Given the description of an element on the screen output the (x, y) to click on. 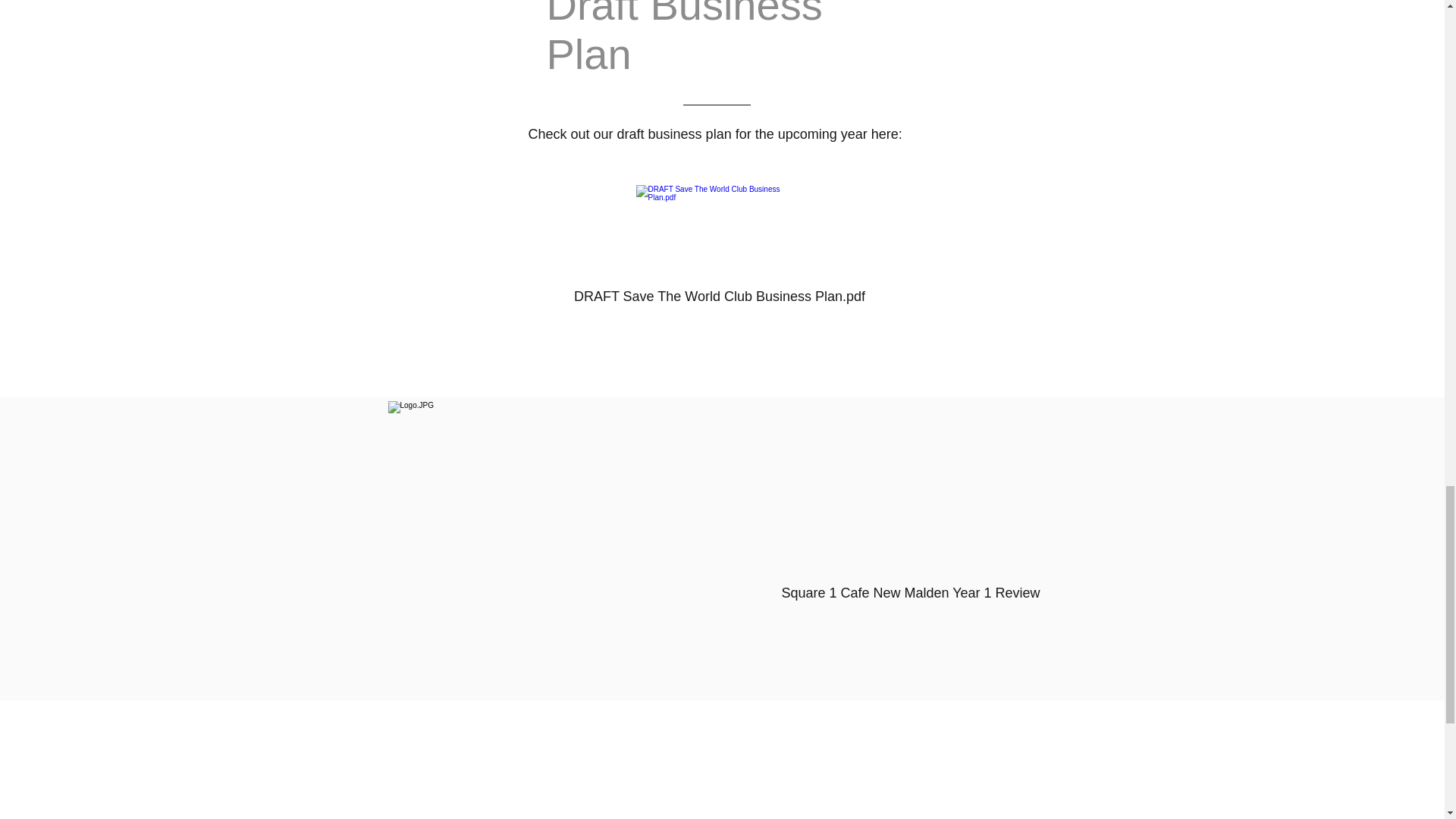
Square 1 Cafe New Malden Year 1 Review (910, 548)
Square 1 Cafe New Malden Year 1 Review (910, 548)
DRAFT Save The World Club Business Plan.pdf (719, 248)
DRAFT Save The World Club Business Plan.pdf (719, 248)
